Given the description of an element on the screen output the (x, y) to click on. 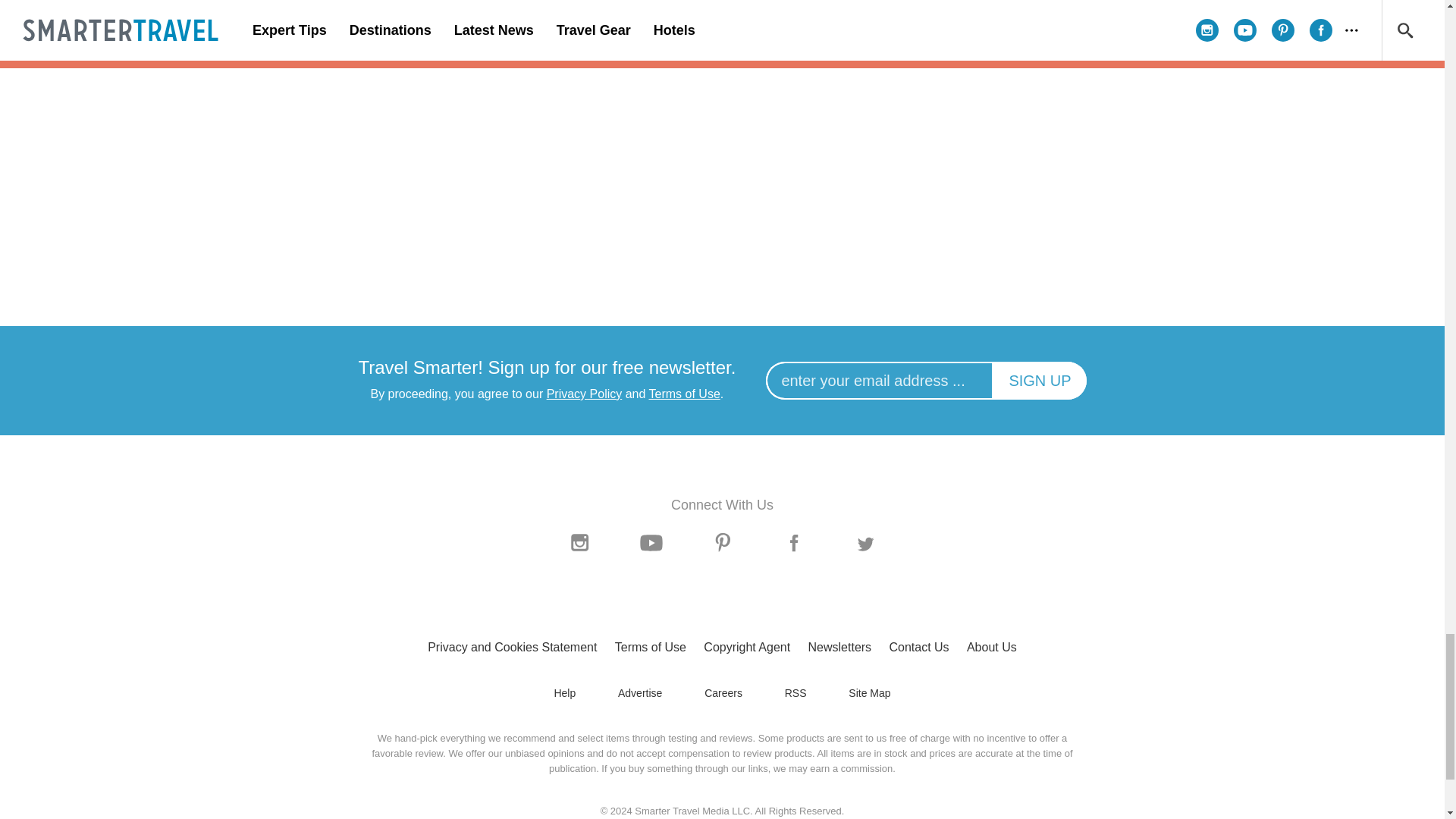
View all posts in Island (448, 79)
View all posts in Adventure Travel (995, 79)
View all posts in Beach (722, 79)
